Given the description of an element on the screen output the (x, y) to click on. 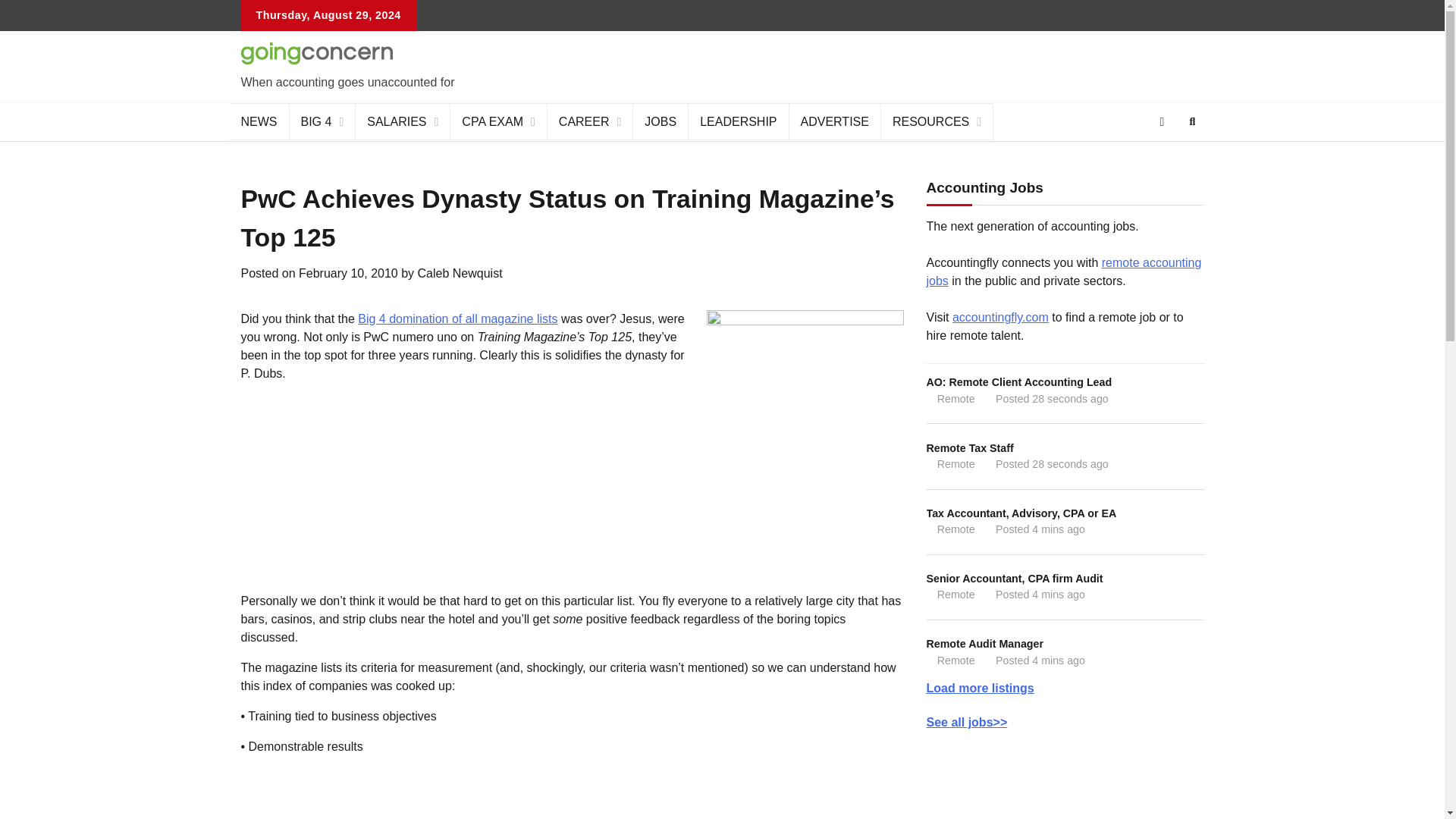
JOBS (660, 121)
LEADERSHIP (738, 121)
BIG 4 (322, 121)
Big 4 domination of all magazine lists (457, 318)
CAREER (590, 121)
ADVERTISE (834, 121)
Search (1164, 157)
Caleb Newquist (459, 273)
RESOURCES (936, 121)
February 10, 2010 (347, 273)
